Given the description of an element on the screen output the (x, y) to click on. 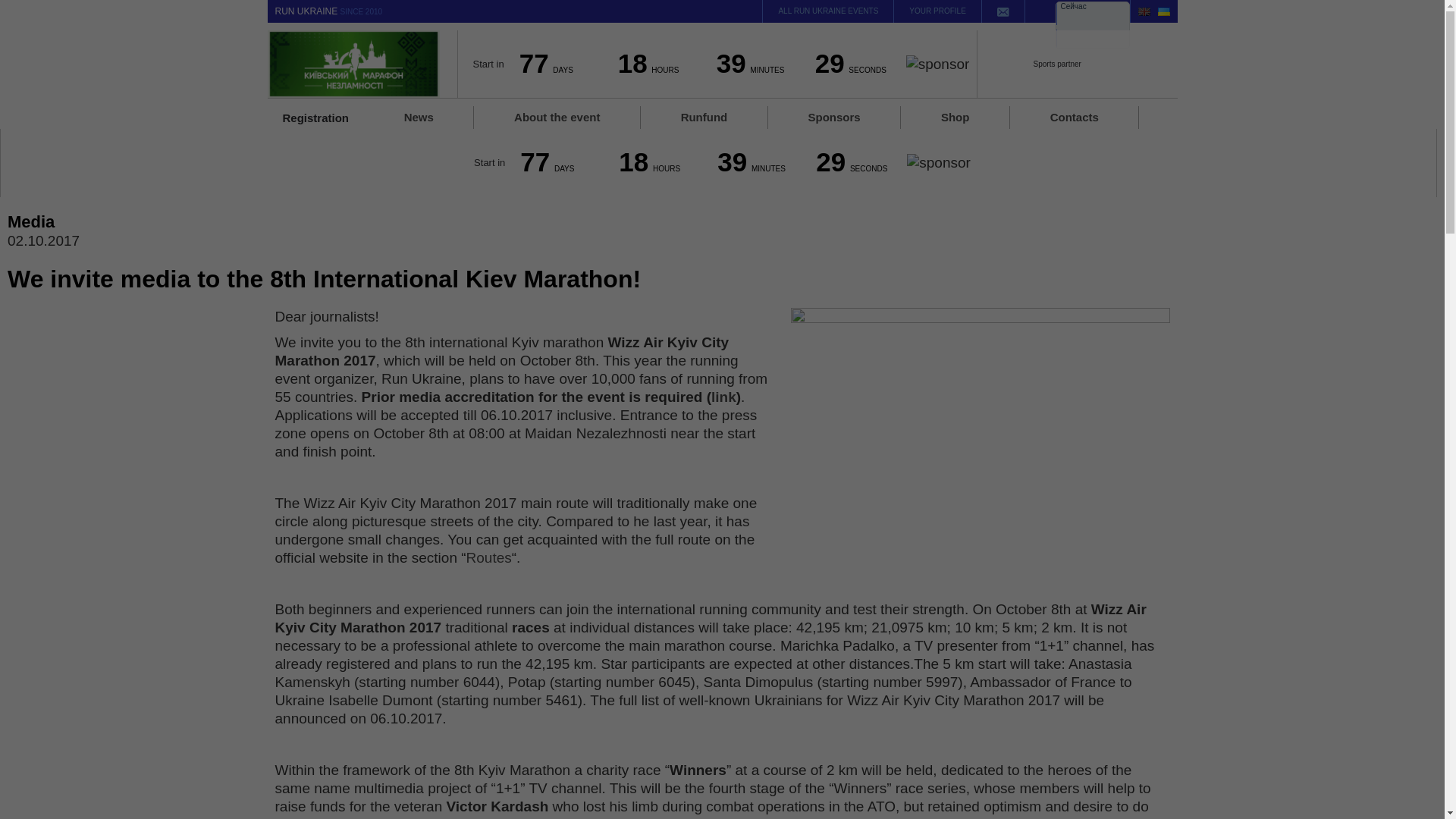
News (418, 117)
Routes (488, 557)
Runfund (703, 117)
About the event (557, 117)
link (723, 396)
Shop (955, 117)
YOUR PROFILE (936, 11)
Registration (311, 118)
Contacts (1074, 117)
Sponsors (833, 117)
ALL RUN UKRAINE EVENTS (827, 11)
RUN UKRAINE SINCE 2010 (328, 11)
